Given the description of an element on the screen output the (x, y) to click on. 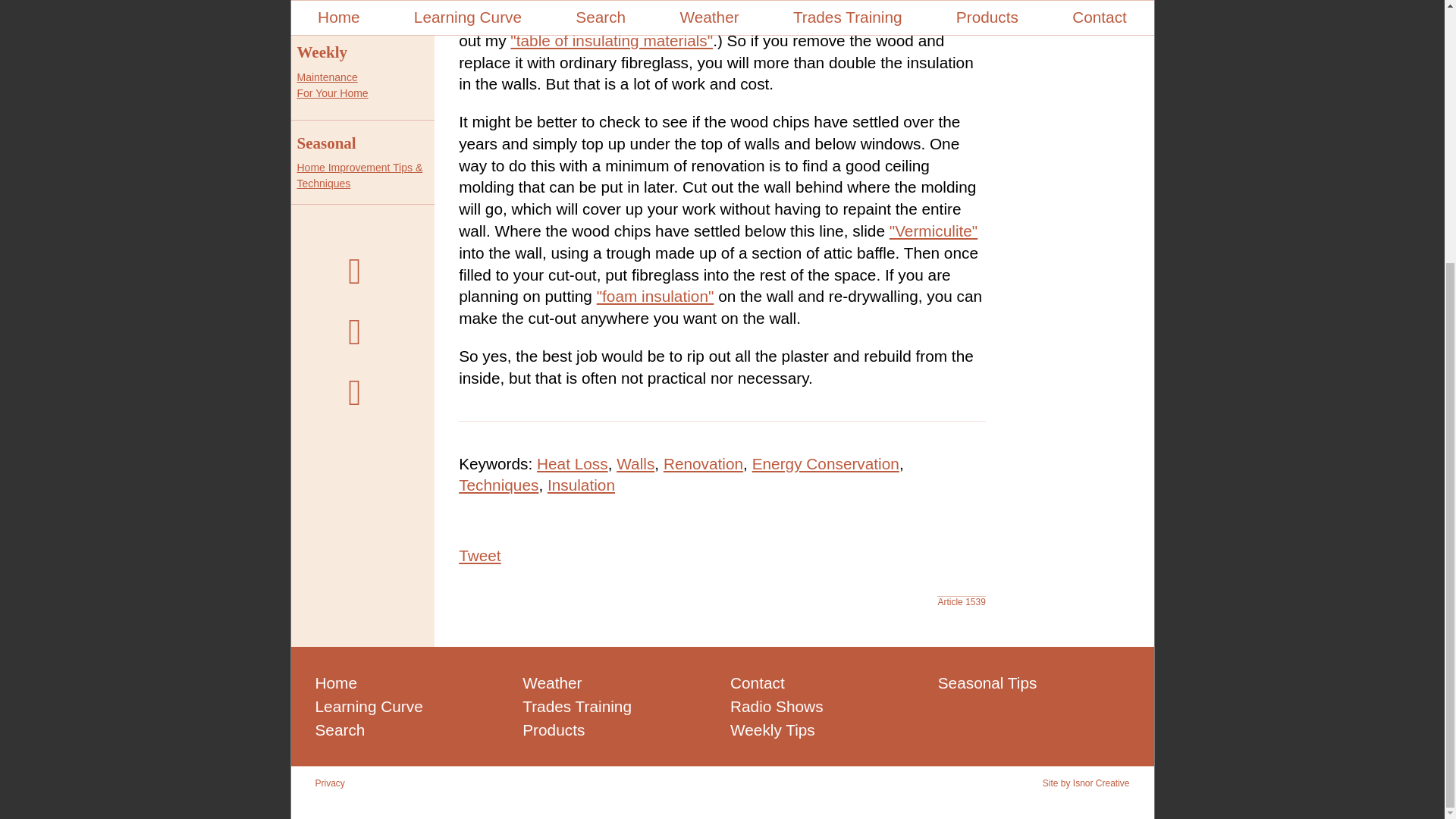
Weekly (332, 85)
Walls (322, 52)
"table of insulating materials" (634, 463)
Renovation (612, 40)
Seasonal (702, 463)
Energy Conservation (326, 143)
Tweet (825, 463)
Insulation (479, 555)
Home (580, 484)
